Given the description of an element on the screen output the (x, y) to click on. 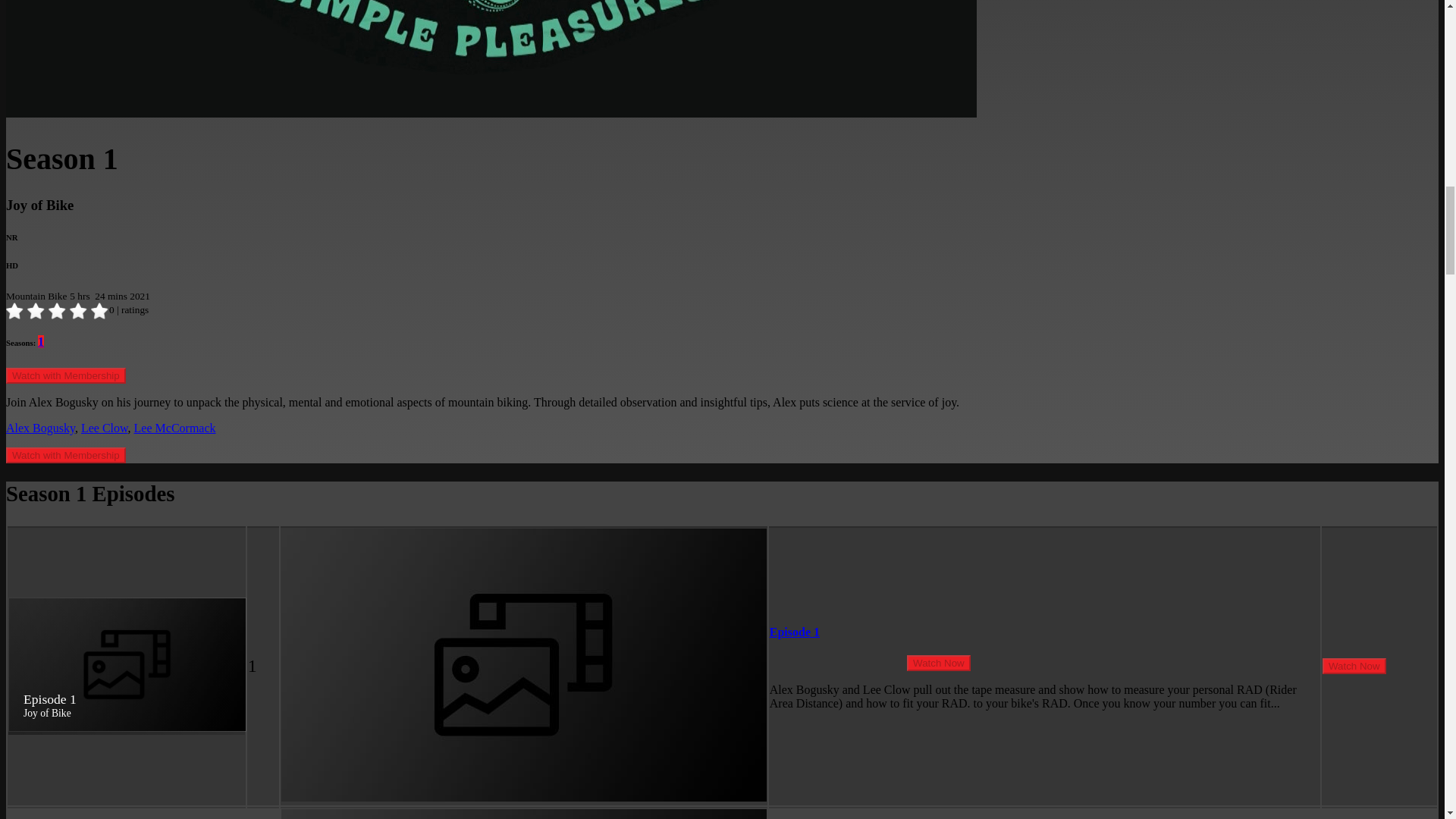
Episode 1 (794, 631)
hated it (14, 311)
loved it (99, 311)
Lee McCormack (174, 427)
really like it (78, 311)
Watch with Membership (65, 375)
didn't like it (36, 311)
Lee Clow (104, 427)
Alex Bogusky (40, 427)
Watch with Membership (65, 455)
liked it (57, 311)
